Given the description of an element on the screen output the (x, y) to click on. 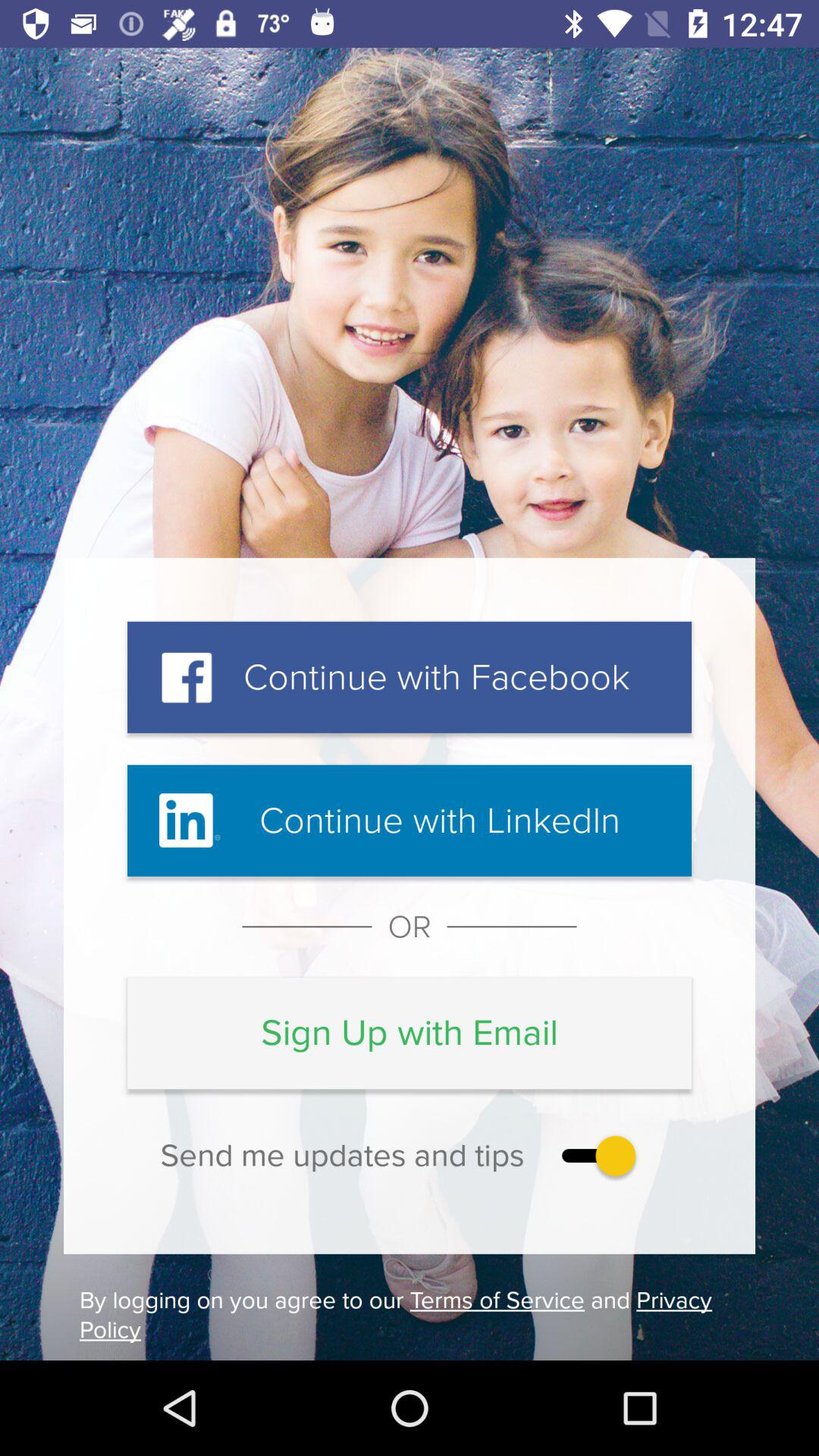
select the item at the bottom right corner (595, 1155)
